Given the description of an element on the screen output the (x, y) to click on. 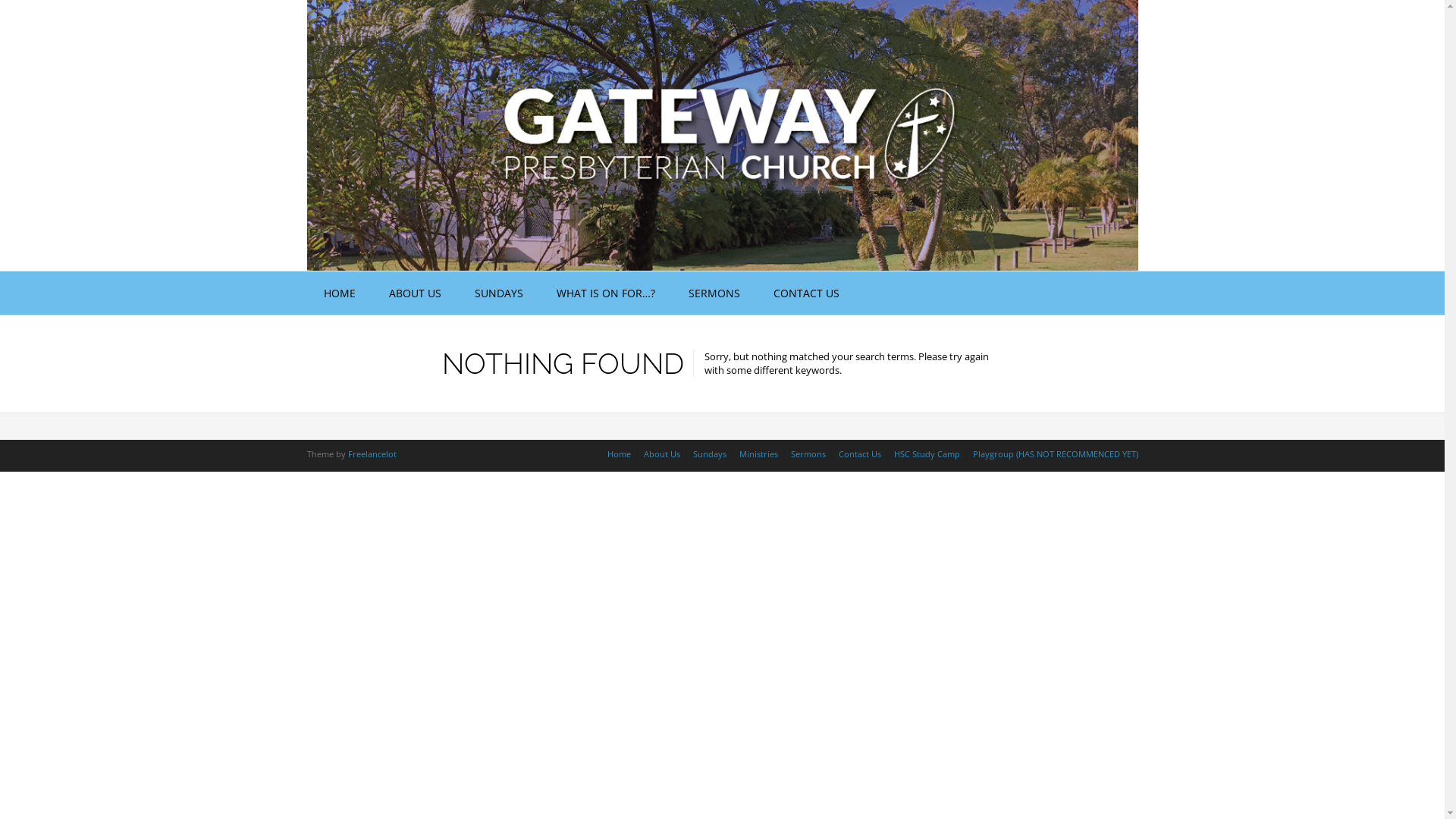
SERMONS Element type: text (713, 292)
Home Element type: text (619, 453)
Sundays Element type: text (709, 453)
Ministries Element type: text (758, 453)
Sermons Element type: text (808, 453)
Playgroup (HAS NOT RECOMMENCED YET) Element type: text (1052, 453)
HSC Study Camp Element type: text (926, 453)
About Us Element type: text (661, 453)
ABOUT US Element type: text (414, 292)
Freelancelot Element type: text (371, 453)
CONTACT US Element type: text (806, 292)
HOME Element type: text (338, 292)
Gateway Presbyterian Anna Bay Element type: hover (721, 135)
SUNDAYS Element type: text (498, 292)
Contact Us Element type: text (858, 453)
